Given the description of an element on the screen output the (x, y) to click on. 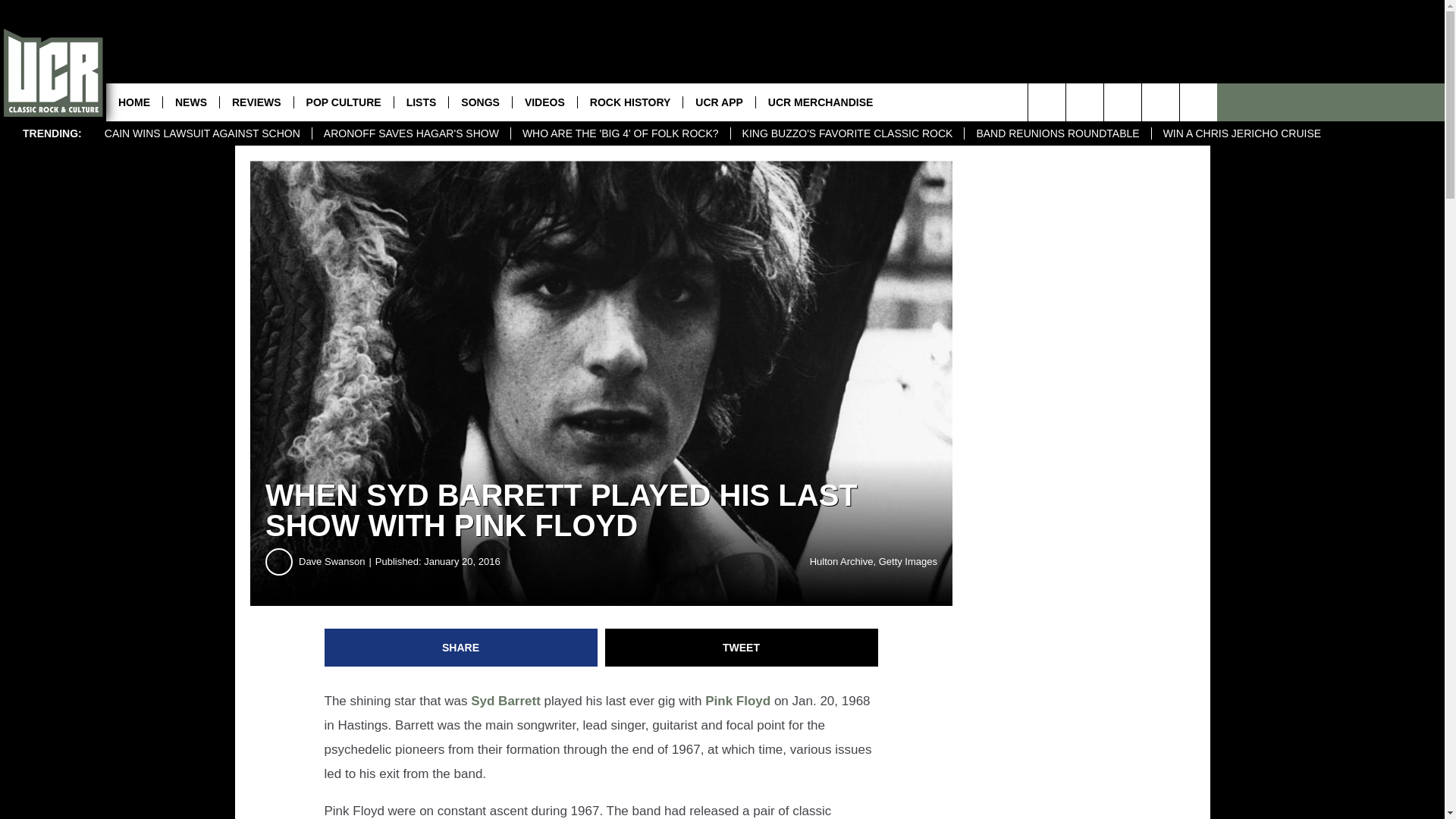
Syd Barrett (505, 700)
VIDEOS (544, 102)
HOME (133, 102)
Visit us on Twitter (1198, 102)
UCR APP (718, 102)
Visit us on Youtube (1122, 102)
BAND REUNIONS ROUNDTABLE (1056, 133)
Visit us on Facebook (1160, 102)
Dave Swanson (336, 561)
TWEET (741, 647)
